Given the description of an element on the screen output the (x, y) to click on. 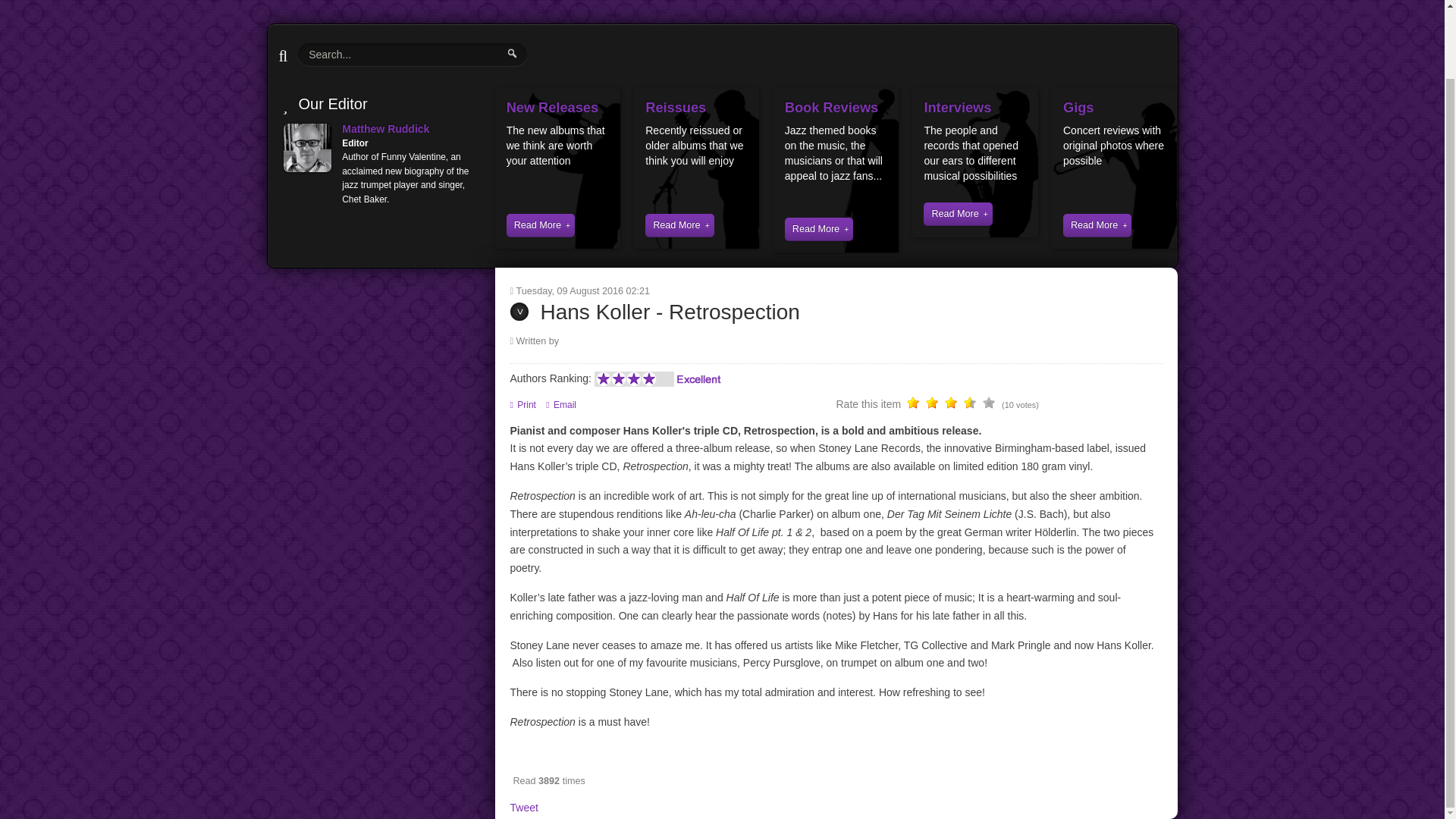
Read More (1096, 225)
New Releases (552, 107)
Read More (818, 228)
Interviews (957, 107)
Read More (540, 225)
Matthew Ruddick (385, 128)
5 stars out of 5 (951, 404)
3 stars out of 5 (932, 404)
5 (951, 404)
3 (932, 404)
4 (941, 404)
Gigs (1077, 107)
1 (913, 404)
Read More (957, 214)
Reissues (675, 107)
